Given the description of an element on the screen output the (x, y) to click on. 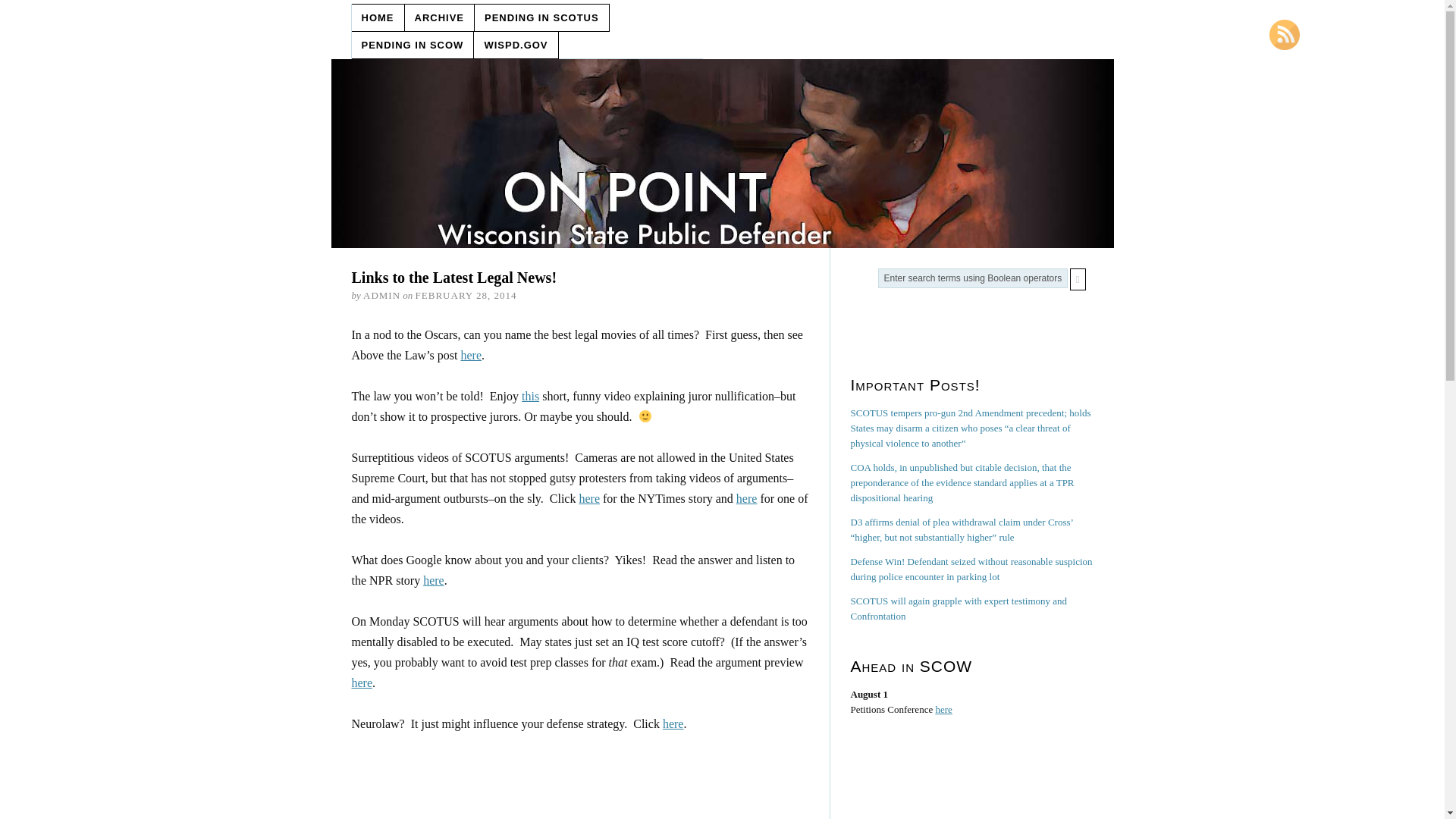
2014-02-28 (465, 295)
HOME (378, 17)
here (433, 580)
here (362, 682)
here (470, 354)
Advanced Search (891, 334)
RSS (1284, 34)
this (529, 395)
ARCHIVE (440, 17)
WISPD.GOV (515, 44)
PENDING IN SCOW (413, 44)
